Given the description of an element on the screen output the (x, y) to click on. 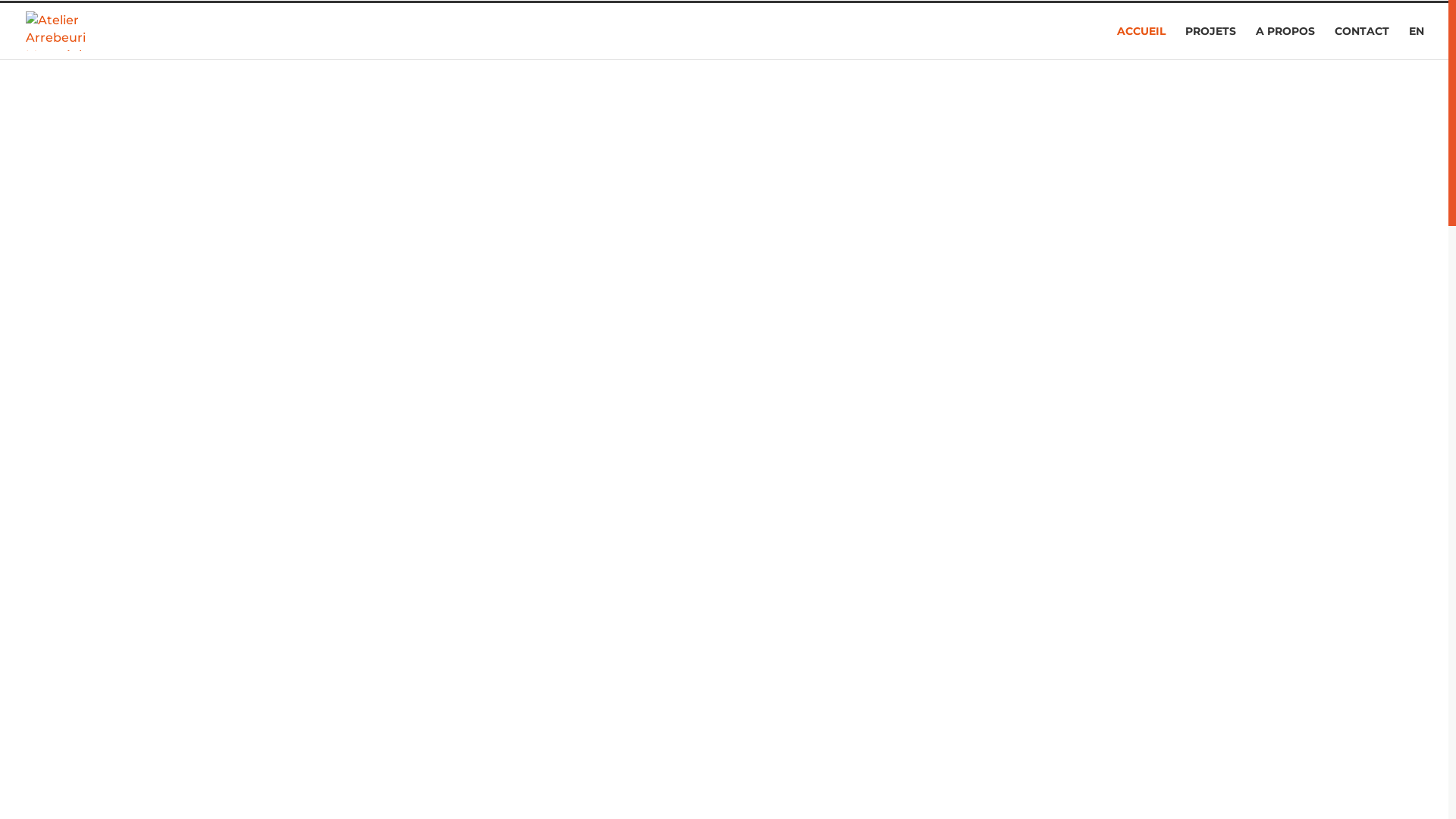
A PROPOS Element type: text (1284, 42)
ACCUEIL Element type: text (1141, 42)
PROJETS Element type: text (1210, 42)
EN Element type: text (1416, 42)
CONTACT Element type: text (1361, 42)
